Given the description of an element on the screen output the (x, y) to click on. 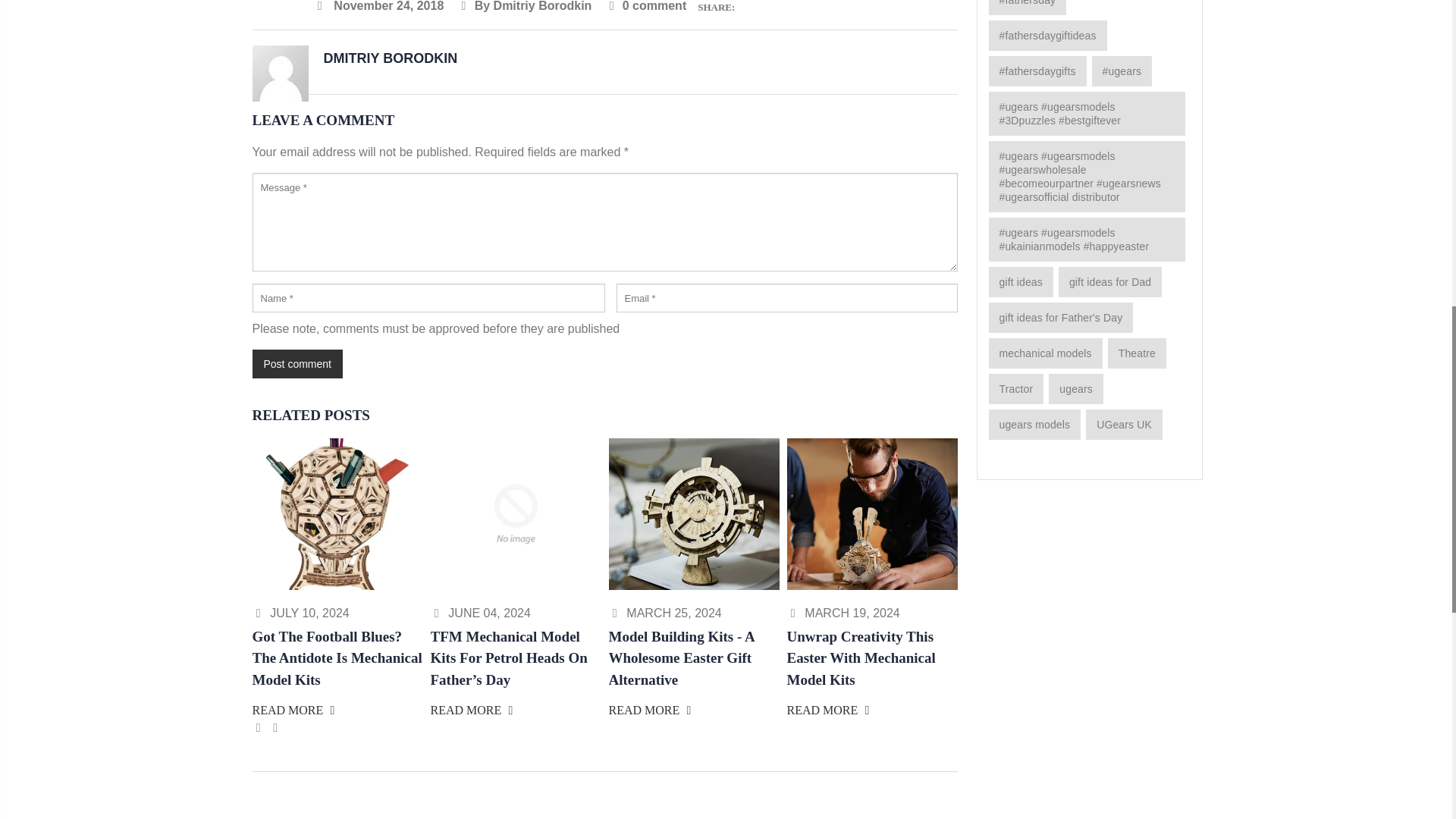
Show articles tagged mechanical models (1045, 353)
Show articles tagged gift ideas for Father's Day (1061, 317)
Post comment (296, 363)
Show articles tagged gift ideas for Dad (1109, 281)
Show articles tagged gift ideas (1020, 281)
